Given the description of an element on the screen output the (x, y) to click on. 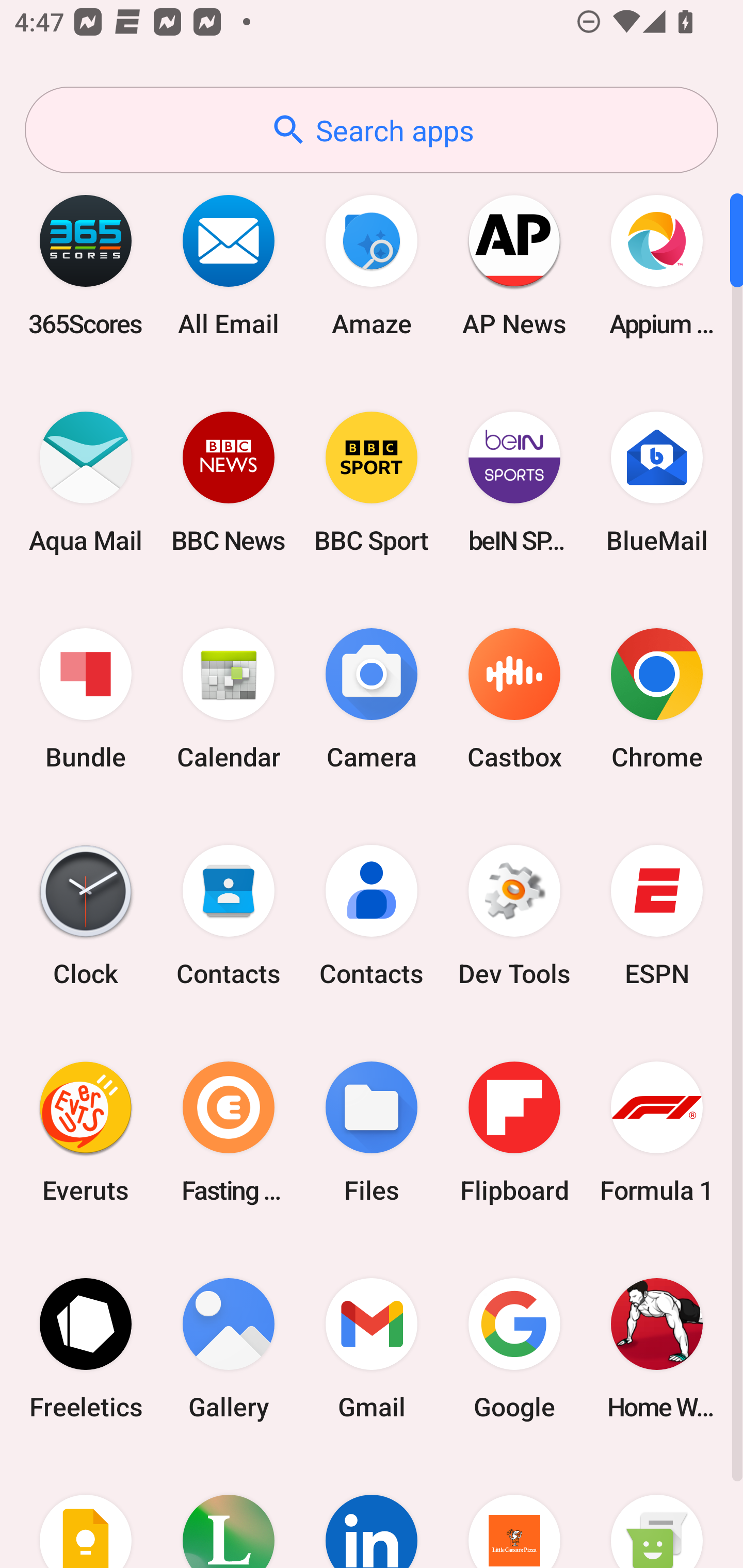
  Search apps (371, 130)
365Scores (85, 264)
All Email (228, 264)
Amaze (371, 264)
AP News (514, 264)
Appium Settings (656, 264)
Aqua Mail (85, 482)
BBC News (228, 482)
BBC Sport (371, 482)
beIN SPORTS (514, 482)
BlueMail (656, 482)
Bundle (85, 699)
Calendar (228, 699)
Camera (371, 699)
Castbox (514, 699)
Chrome (656, 699)
Clock (85, 915)
Contacts (228, 915)
Contacts (371, 915)
Dev Tools (514, 915)
ESPN (656, 915)
Everuts (85, 1131)
Fasting Coach (228, 1131)
Files (371, 1131)
Flipboard (514, 1131)
Formula 1 (656, 1131)
Freeletics (85, 1348)
Gallery (228, 1348)
Gmail (371, 1348)
Google (514, 1348)
Home Workout (656, 1348)
Keep Notes (85, 1512)
Lifesum (228, 1512)
LinkedIn (371, 1512)
Little Caesars Pizza (514, 1512)
Messaging (656, 1512)
